Given the description of an element on the screen output the (x, y) to click on. 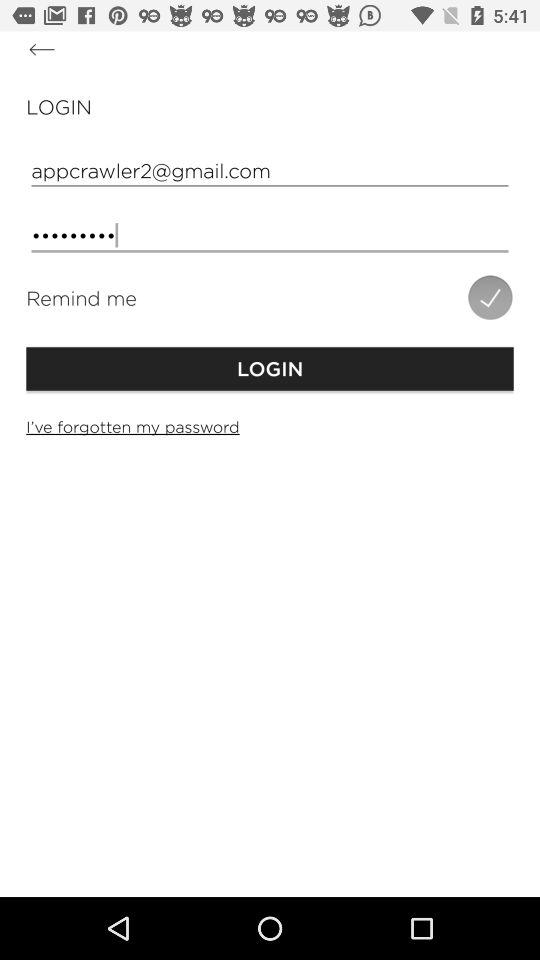
open icon above the login item (490, 297)
